Given the description of an element on the screen output the (x, y) to click on. 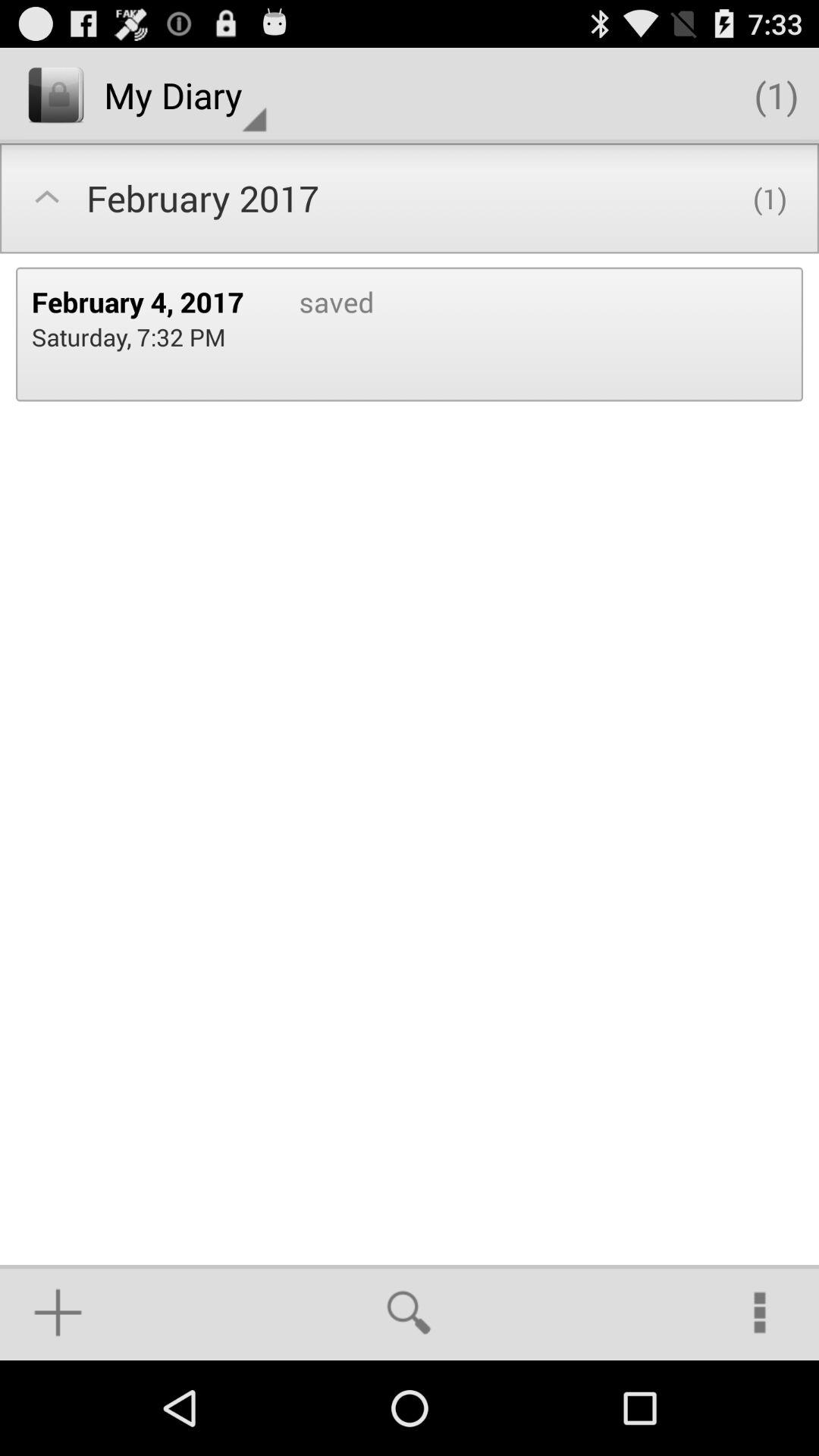
flip until the my diary button (185, 95)
